Given the description of an element on the screen output the (x, y) to click on. 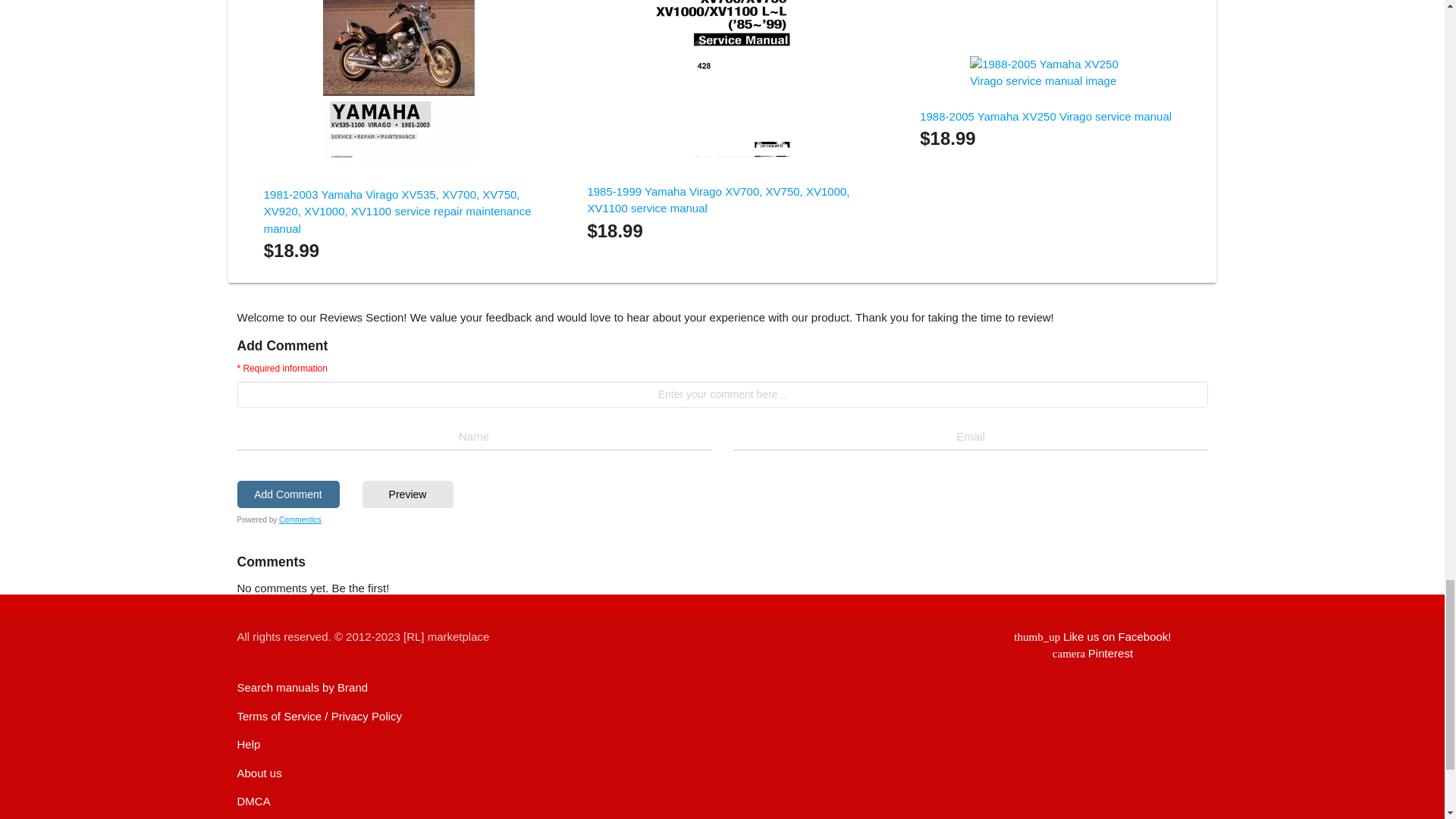
Add Comment (1091, 653)
1988-2005 Yamaha XV250 Virago service manual (287, 493)
About us (1046, 115)
Commentics (258, 772)
Search manuals by Brand (300, 519)
Help (301, 686)
Preview (247, 744)
DMCA (407, 493)
